Given the description of an element on the screen output the (x, y) to click on. 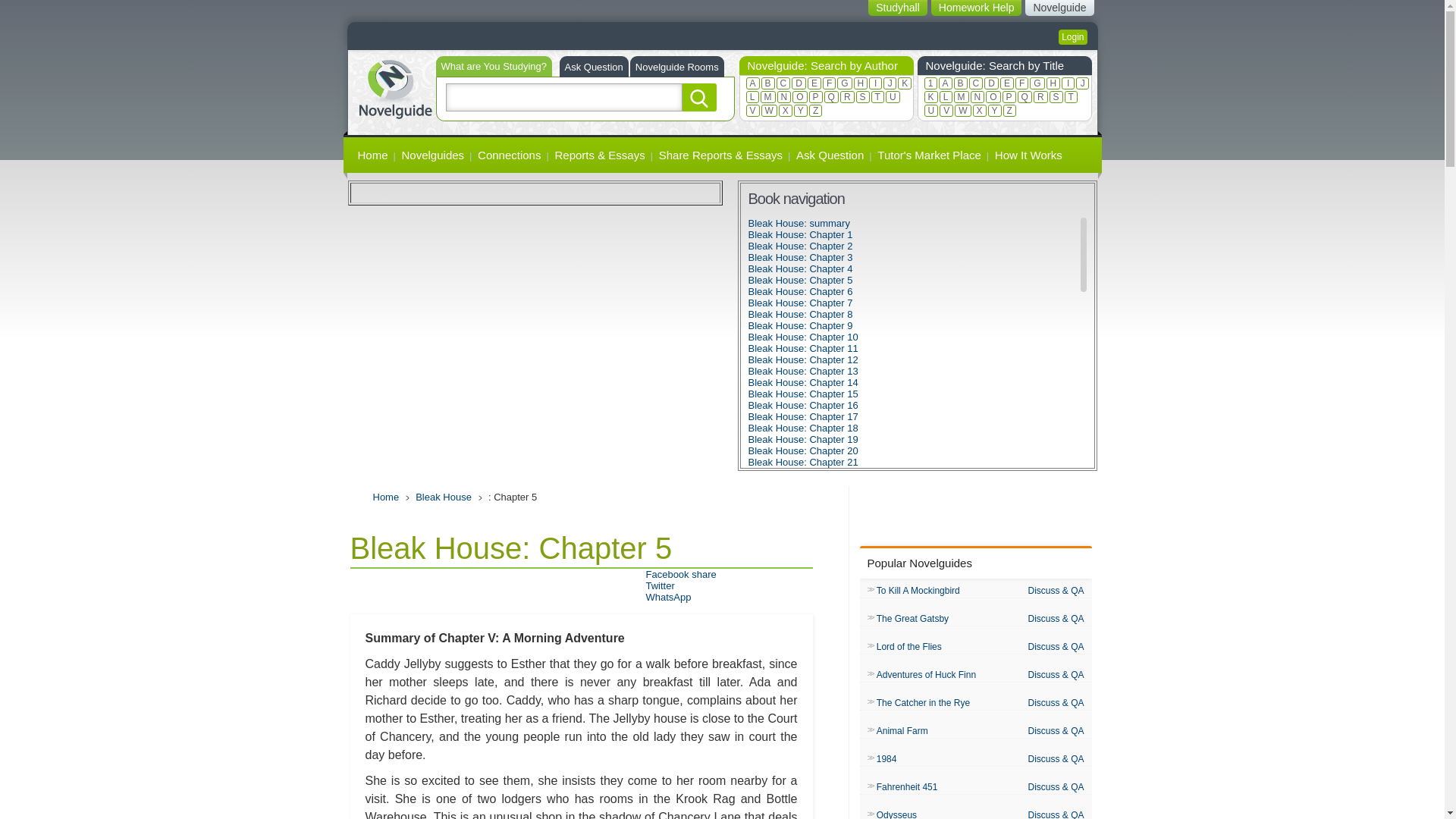
Home (394, 87)
Novelguide (1059, 7)
Studyhall (897, 7)
Enter the terms you wish to search for. (563, 97)
Novelguides (433, 154)
How It Works (1028, 154)
Homework Help (976, 7)
Login (1072, 37)
Novelguide Homework Rooms (676, 66)
Search (699, 97)
Login to get help or to help others (1072, 37)
